Given the description of an element on the screen output the (x, y) to click on. 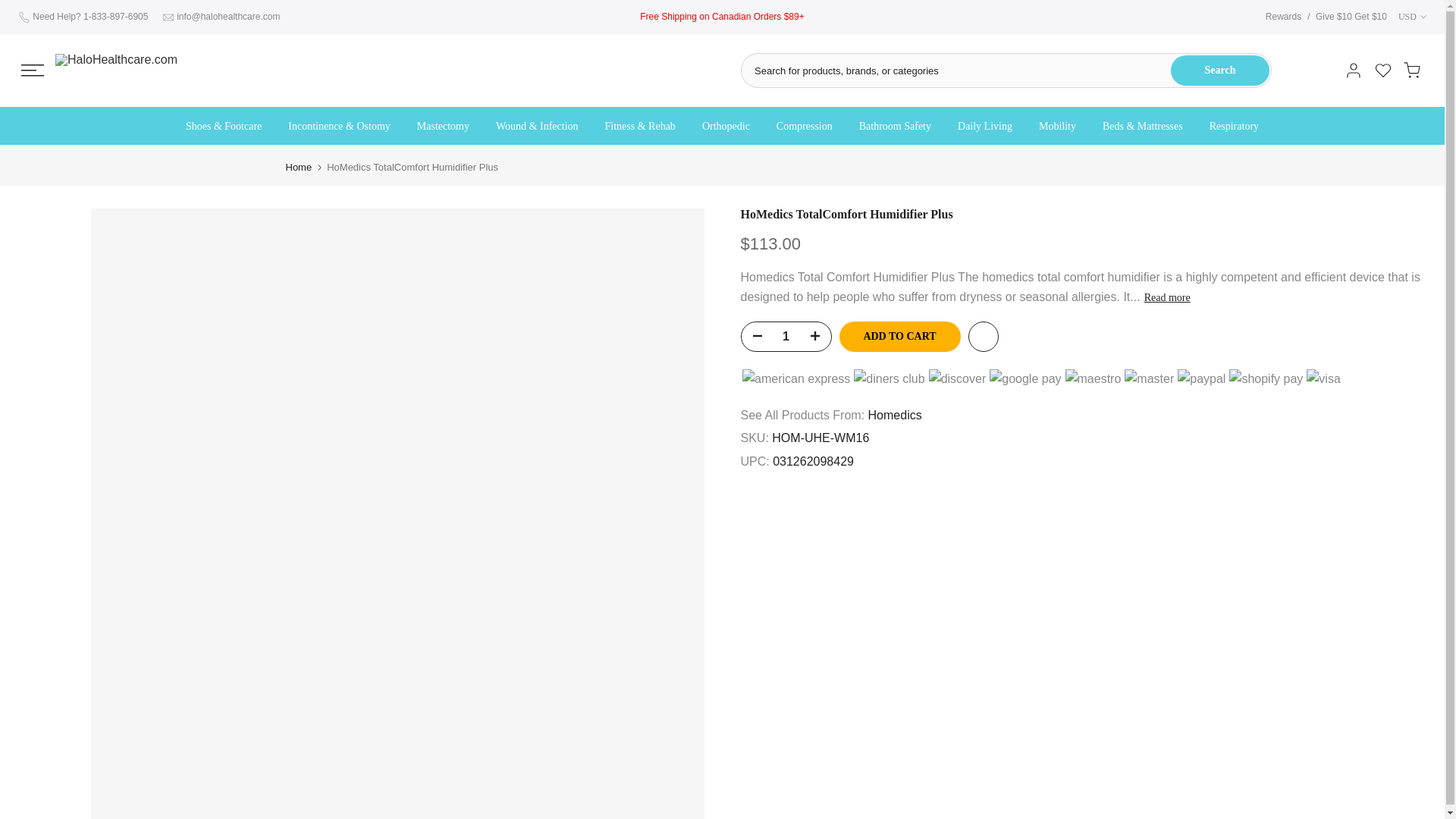
Need Help? 1-833-897-6905 (90, 16)
Compression (803, 126)
Orthopedic (725, 126)
1 (786, 336)
Search (1219, 70)
Bathroom Safety (894, 126)
Rewards (1283, 16)
Mastectomy (442, 126)
Skip to content (10, 7)
Mobility (1057, 126)
